Given the description of an element on the screen output the (x, y) to click on. 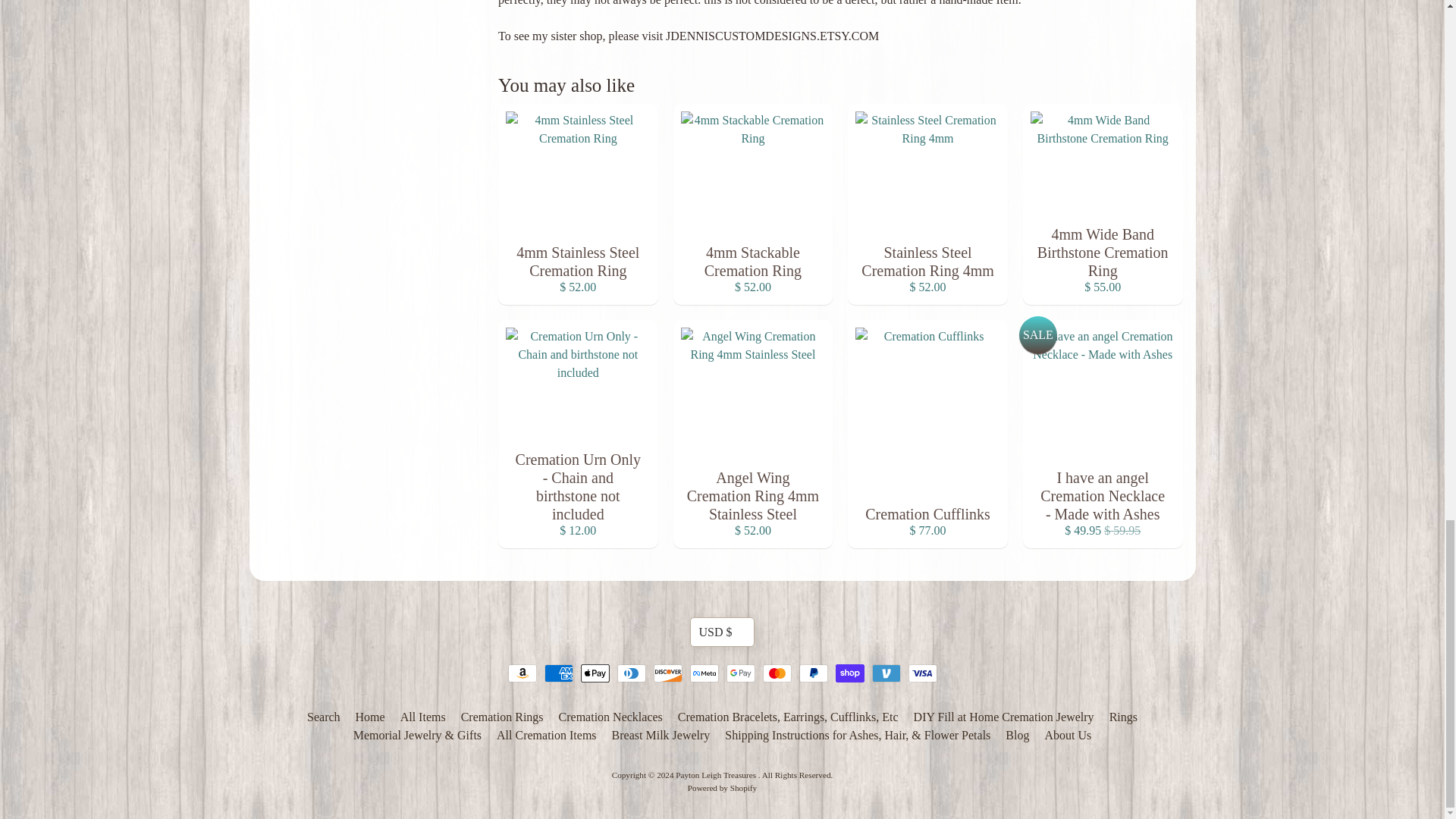
Amazon (522, 673)
Venmo (886, 673)
Shop Pay (849, 673)
Visa (922, 673)
Diners Club (631, 673)
American Express (558, 673)
Google Pay (740, 673)
Discover (667, 673)
Meta Pay (704, 673)
PayPal (813, 673)
